Given the description of an element on the screen output the (x, y) to click on. 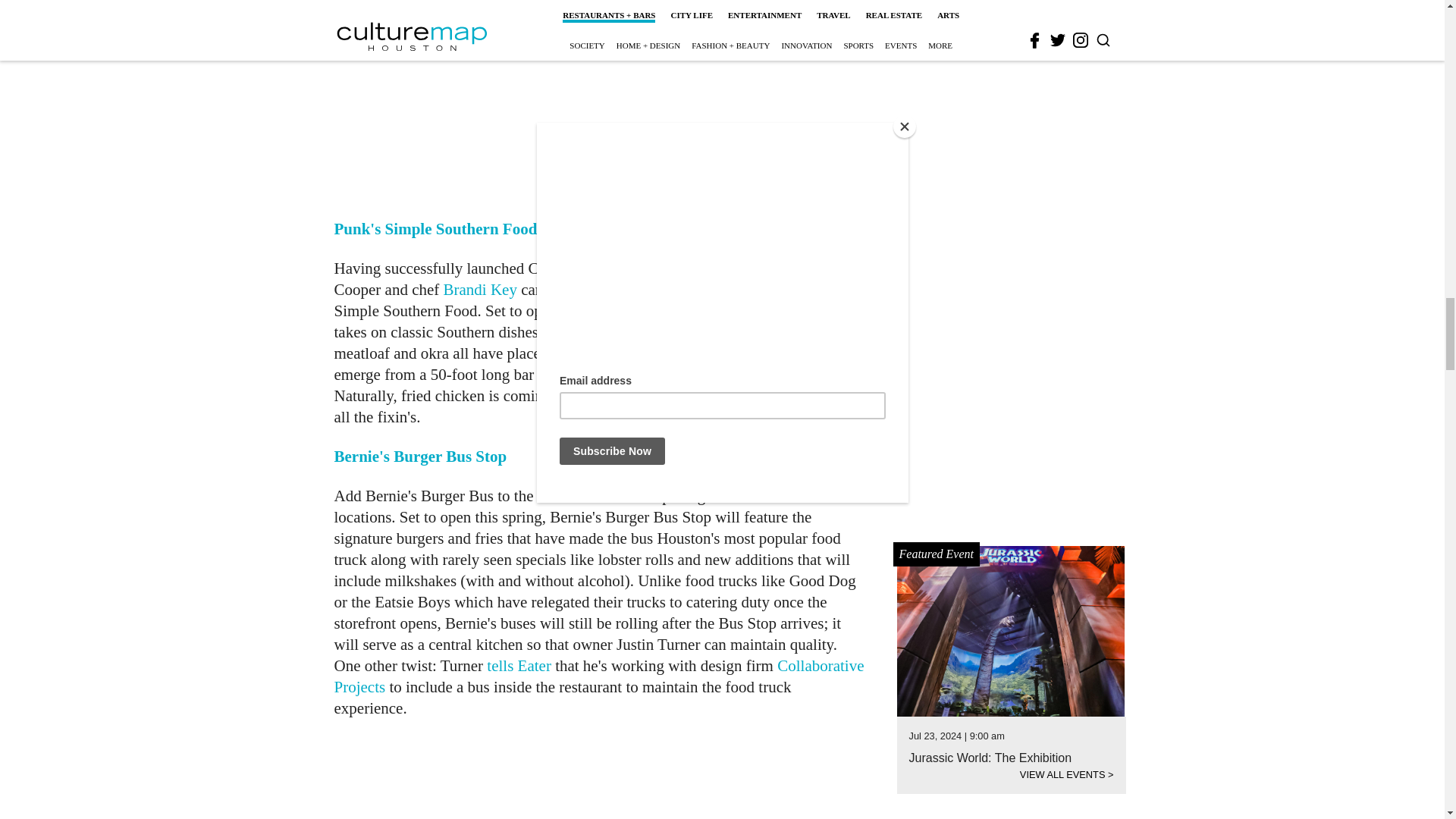
3rd party ad content (600, 778)
3rd party ad content (600, 104)
